Given the description of an element on the screen output the (x, y) to click on. 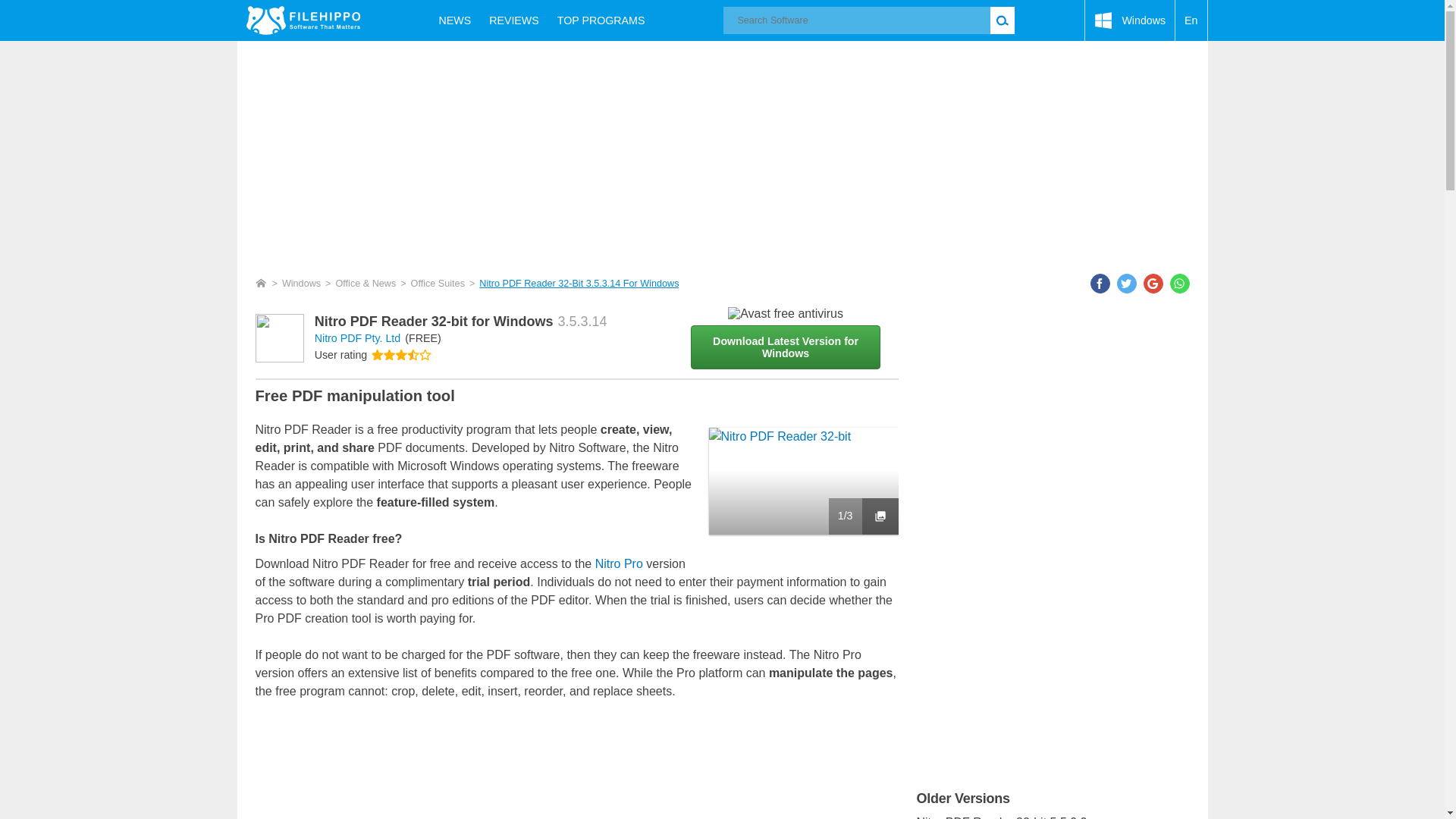
REVIEWS (514, 20)
Windows (301, 283)
NEWS (454, 20)
News (454, 20)
Reviews (514, 20)
Nitro PDF Reader 32-Bit 3.5.3.14 For Windows (578, 283)
Top Programs (600, 20)
Office Suites (437, 283)
Windows (1129, 20)
Windows (1129, 20)
Filehippo (302, 20)
TOP PROGRAMS (600, 20)
